Given the description of an element on the screen output the (x, y) to click on. 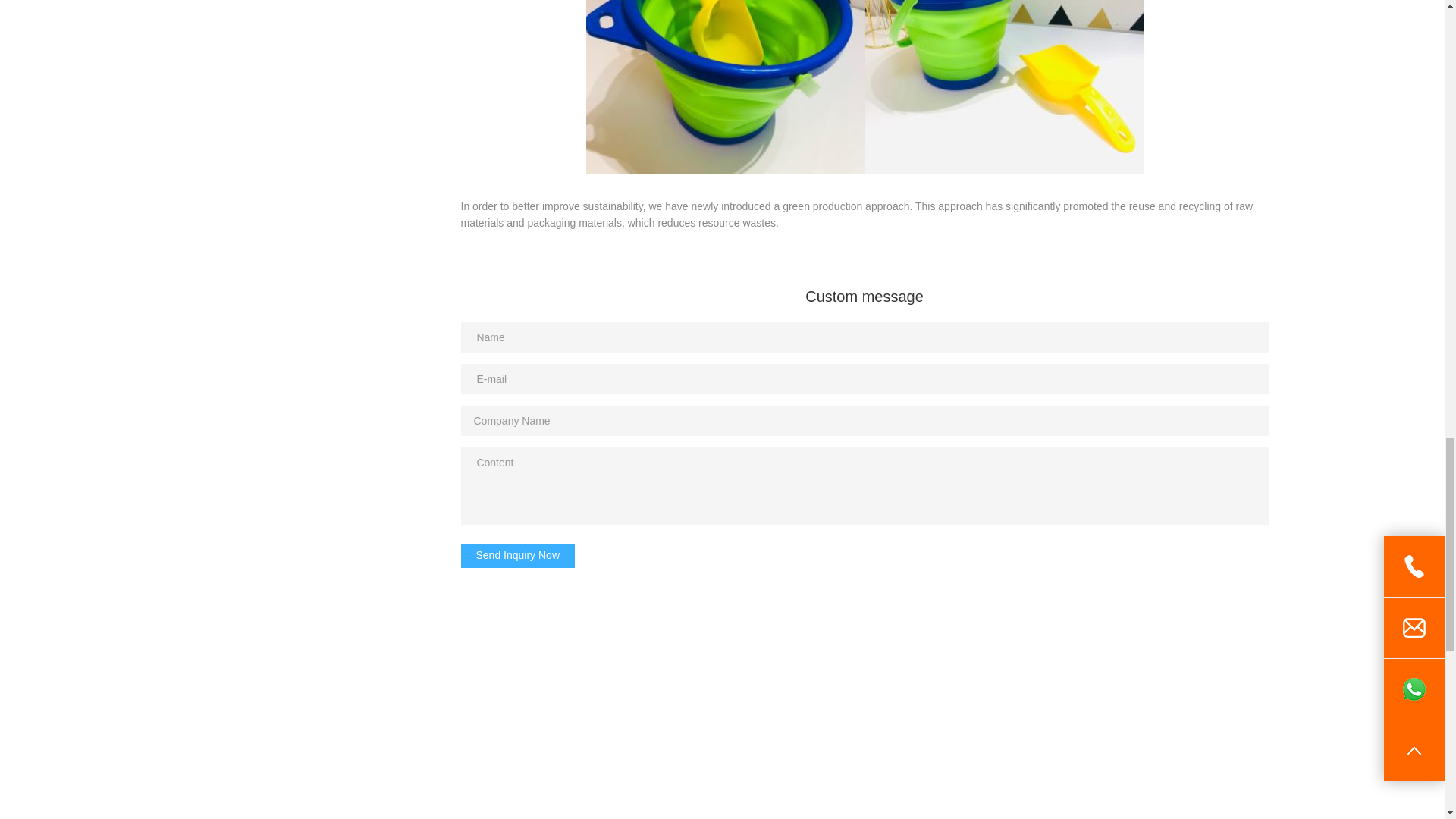
Send Inquiry Now (518, 555)
